Given the description of an element on the screen output the (x, y) to click on. 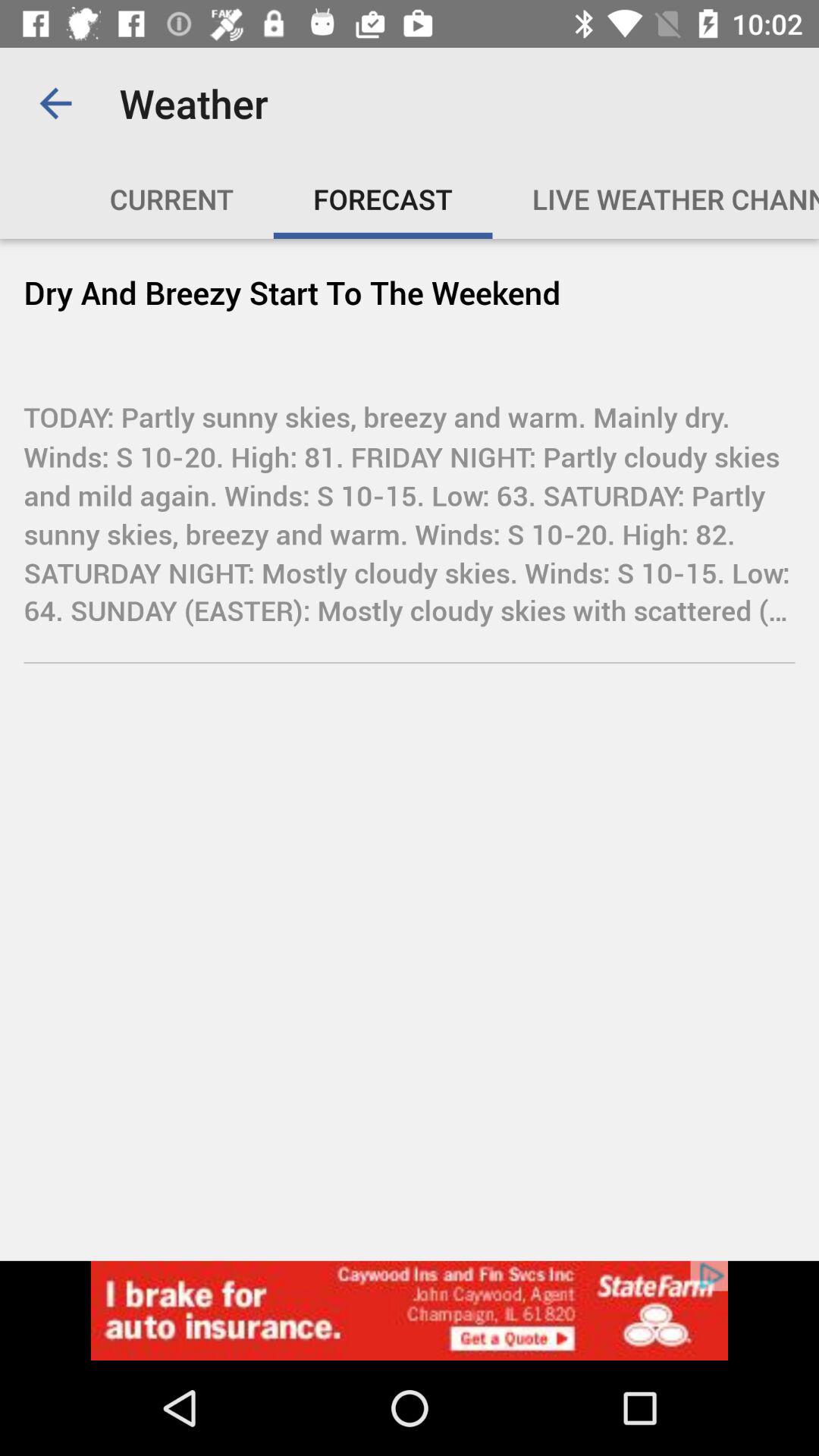
click to visit the statefarm advertisement (409, 1310)
